Given the description of an element on the screen output the (x, y) to click on. 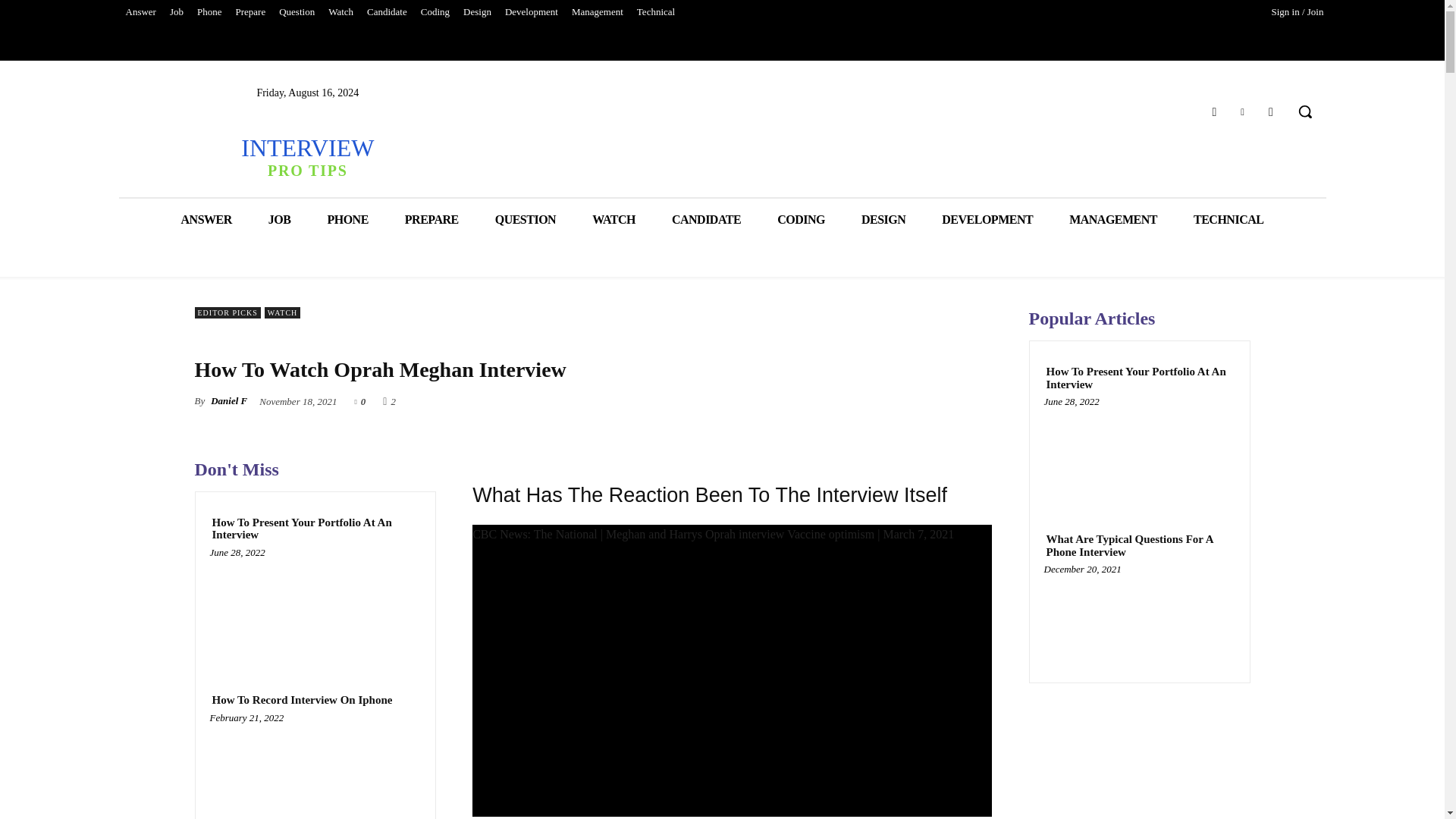
Twitter (1241, 111)
How To Present Your Portfolio At An Interview (314, 528)
Candidate (386, 12)
Prepare (250, 12)
Facebook (1214, 111)
How To Record Interview On Iphone (301, 699)
Coding (435, 12)
Question (296, 12)
Youtube (1270, 111)
Management (597, 12)
